Given the description of an element on the screen output the (x, y) to click on. 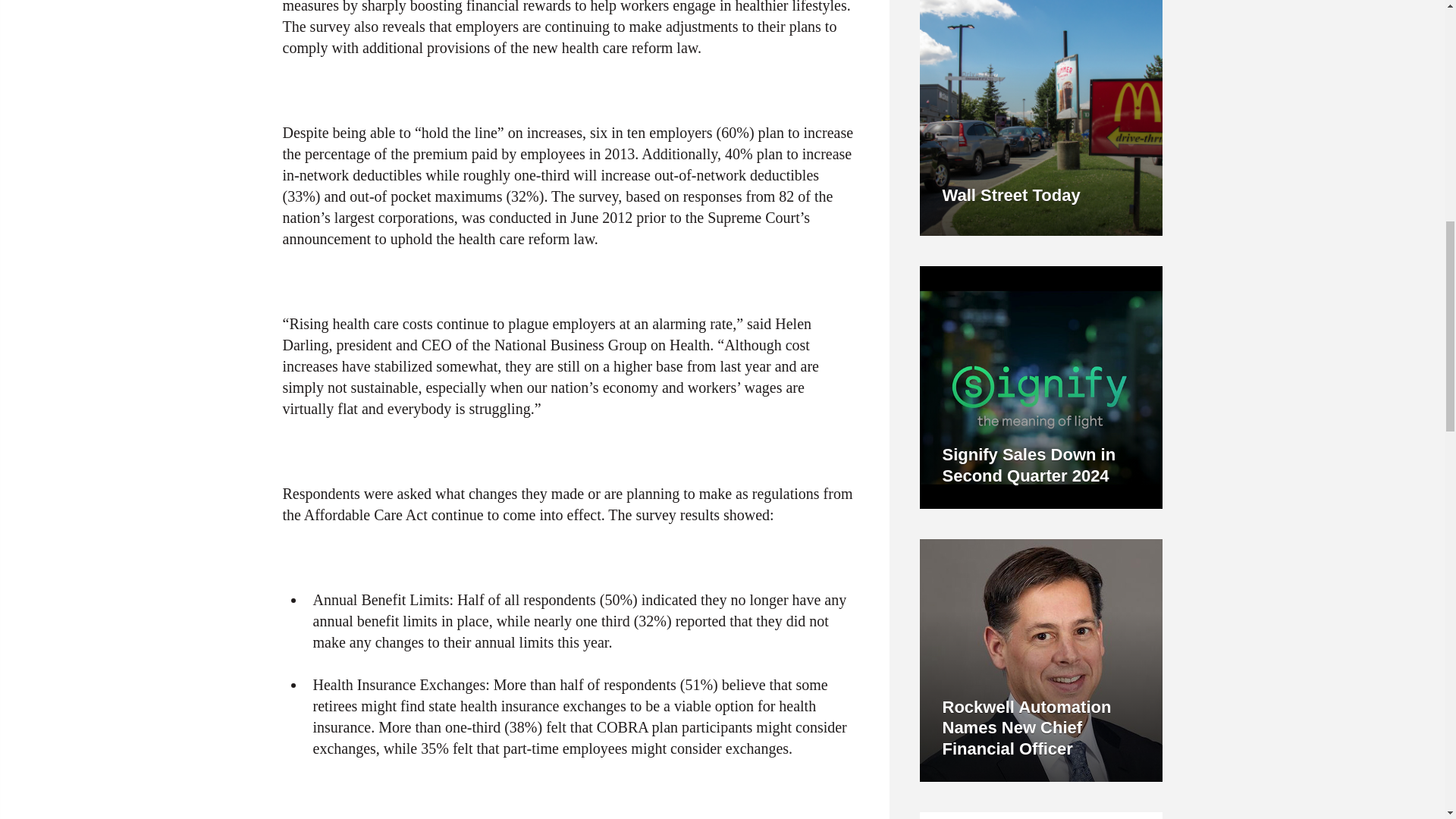
Scroll back to top (461, 27)
